Given the description of an element on the screen output the (x, y) to click on. 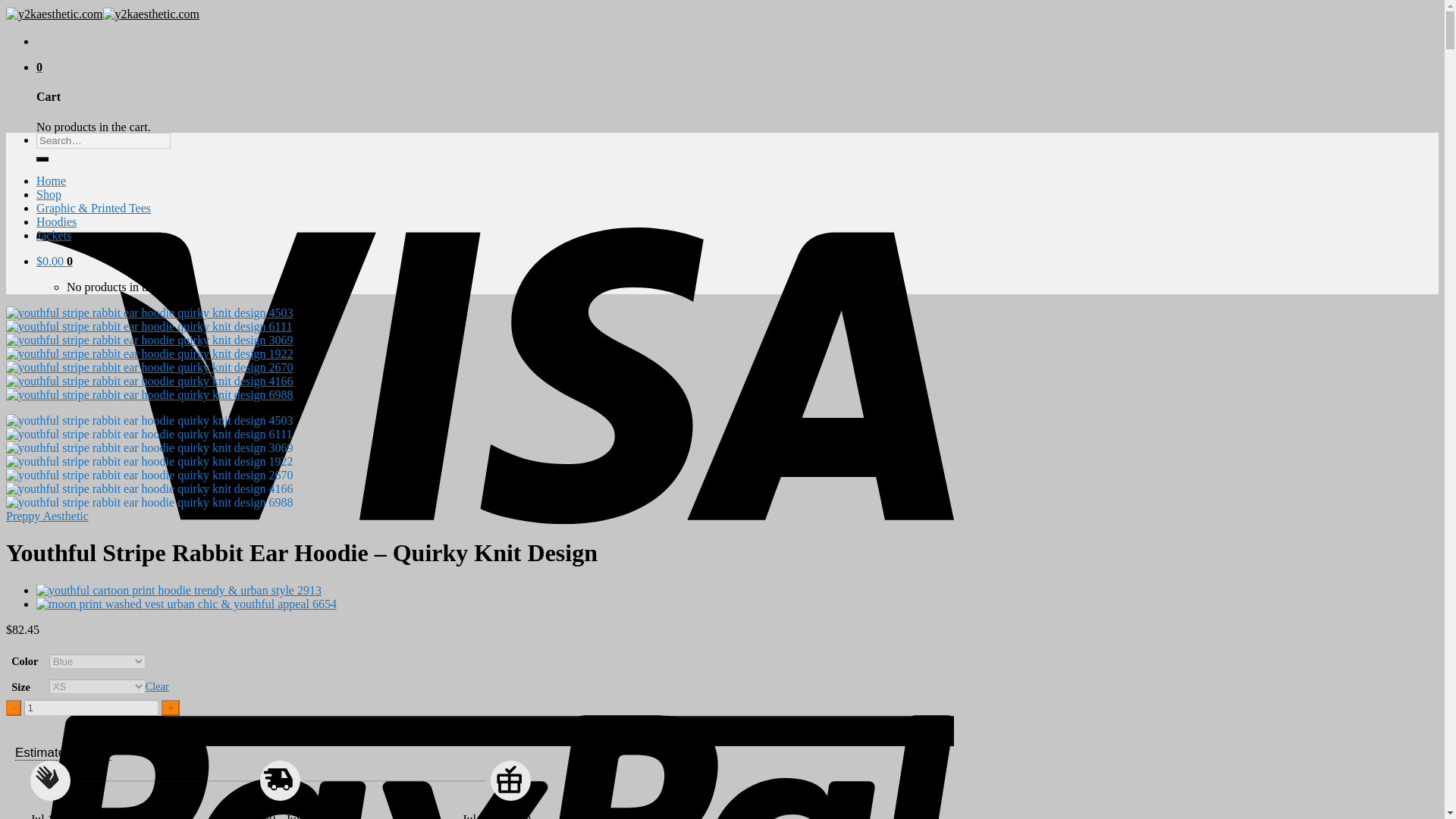
Home (50, 180)
y2kaesthetic.com (102, 13)
1 (91, 707)
youthful stripe rabbit ear hoodie   quirky knit design 4166 (149, 381)
Jackets (53, 235)
Search (42, 159)
Shop (48, 194)
youthful stripe rabbit ear hoodie   quirky knit design 4503 (149, 313)
Cart (54, 260)
youthful stripe rabbit ear hoodie   quirky knit design 6988 (149, 395)
youthful stripe rabbit ear hoodie   quirky knit design 3069 (149, 340)
youthful stripe rabbit ear hoodie   quirky knit design 6111 (148, 326)
- (13, 707)
Hoodies (56, 221)
